Given the description of an element on the screen output the (x, y) to click on. 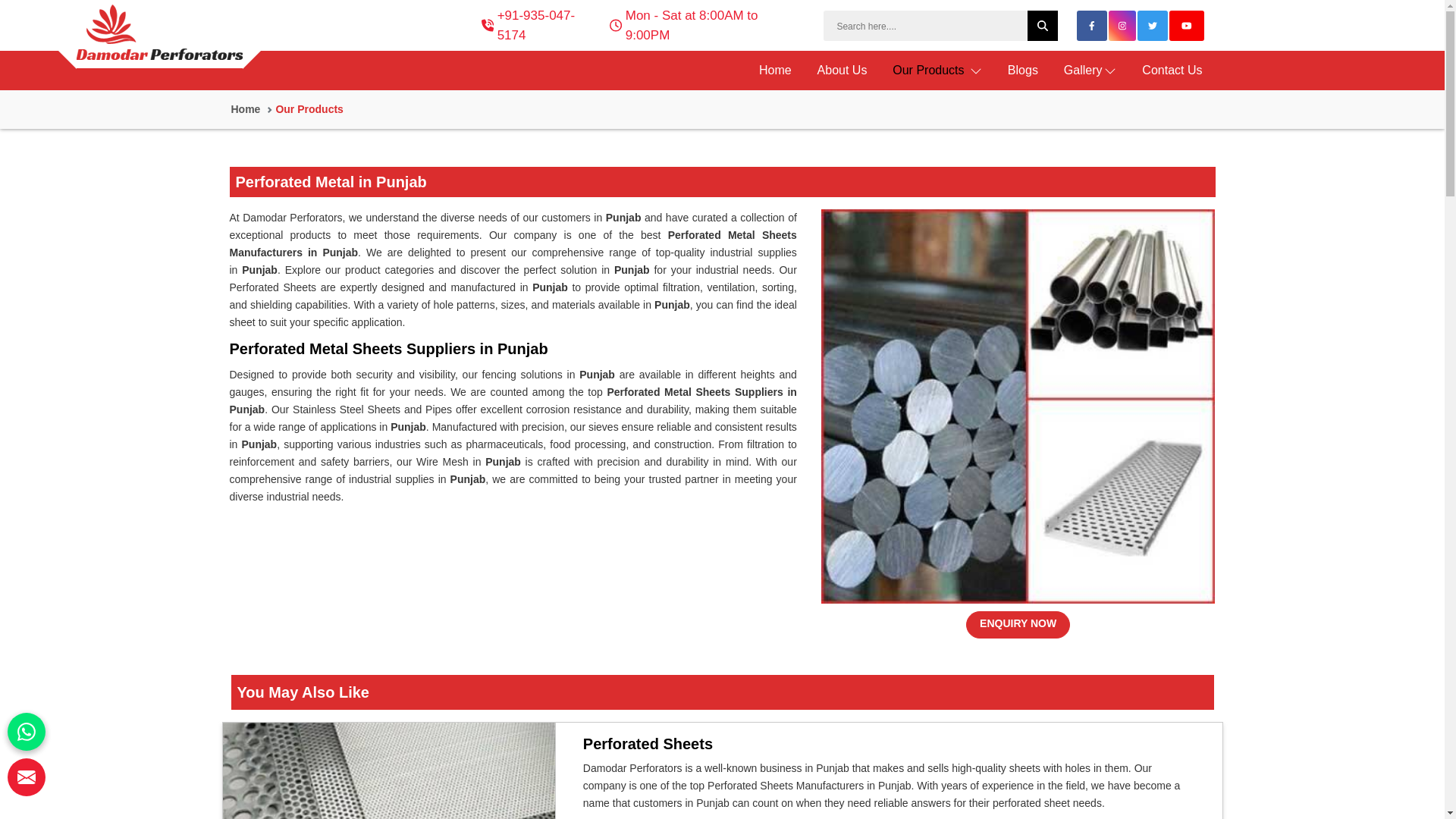
Our Products (936, 70)
Twitter (1153, 25)
Youtube (1187, 25)
About Us (842, 70)
Instagram (1122, 25)
Facebook (1091, 25)
Damodar Perforators (159, 35)
Home (775, 70)
Home (775, 70)
Search (941, 25)
